Given the description of an element on the screen output the (x, y) to click on. 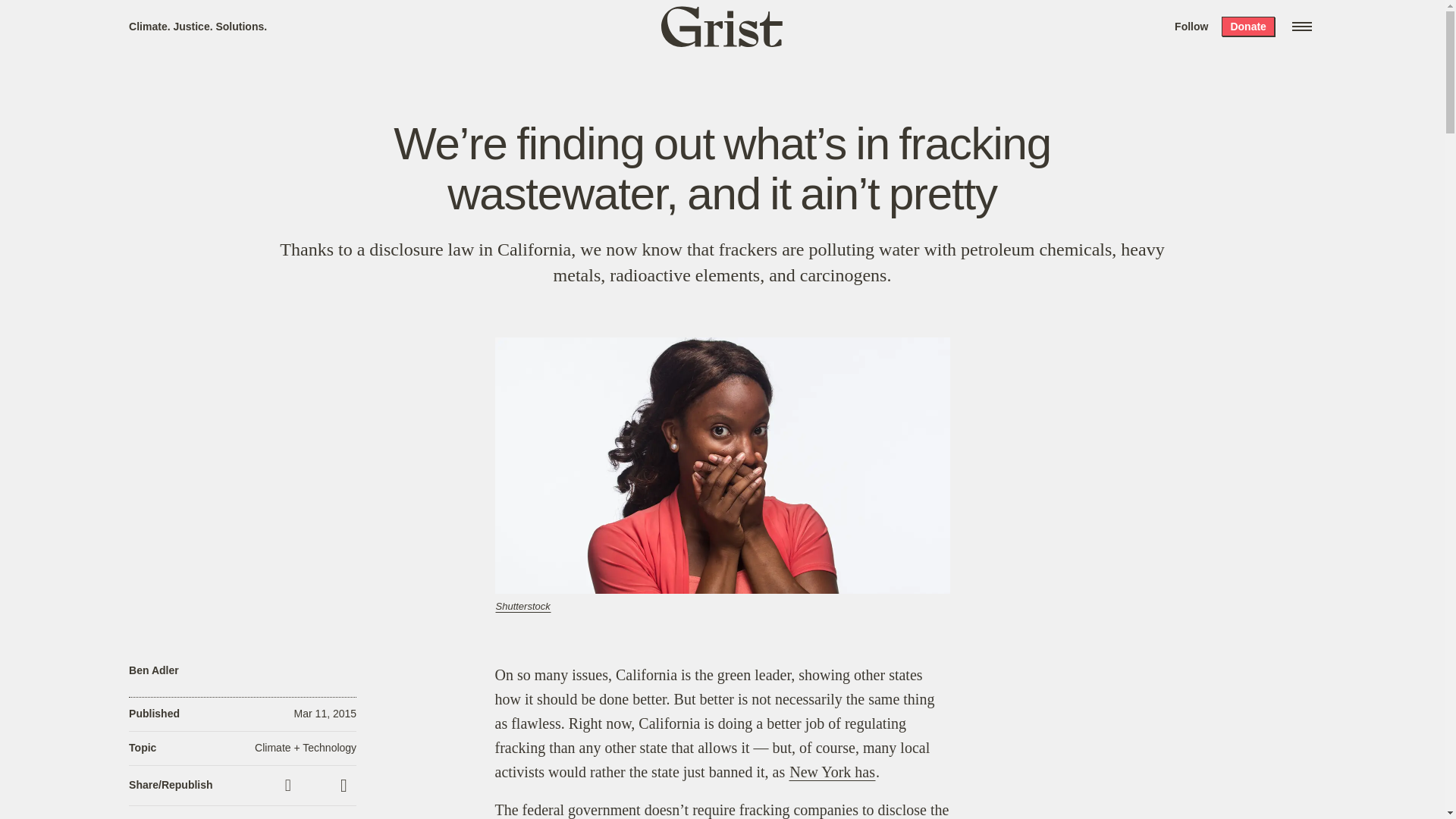
Copy article link (289, 785)
Follow (1191, 26)
Shutterstock (522, 605)
Search (227, 18)
Republish the article (316, 785)
Donate (1247, 26)
Grist home (722, 25)
